Given the description of an element on the screen output the (x, y) to click on. 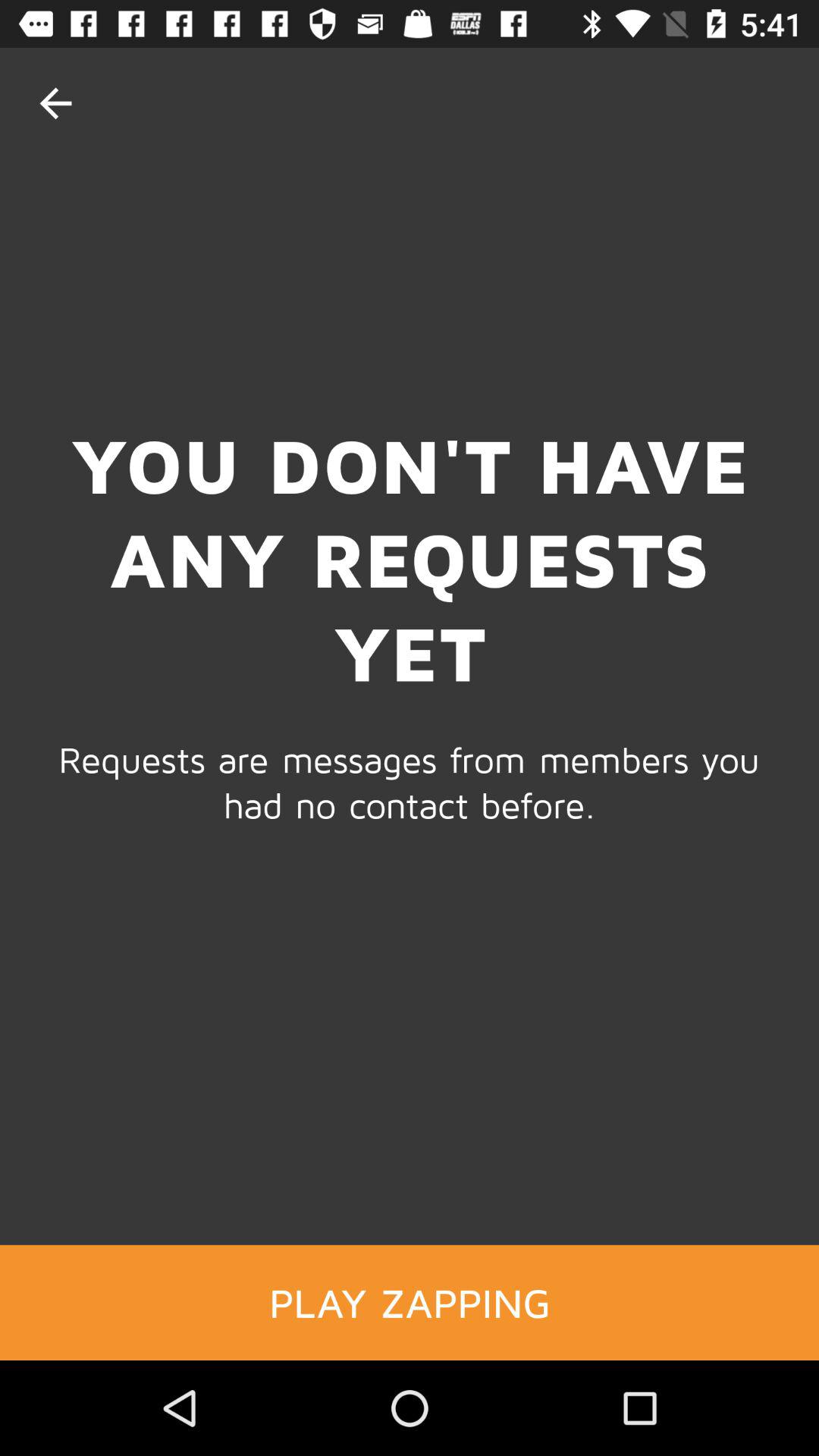
select item at the top left corner (55, 103)
